Given the description of an element on the screen output the (x, y) to click on. 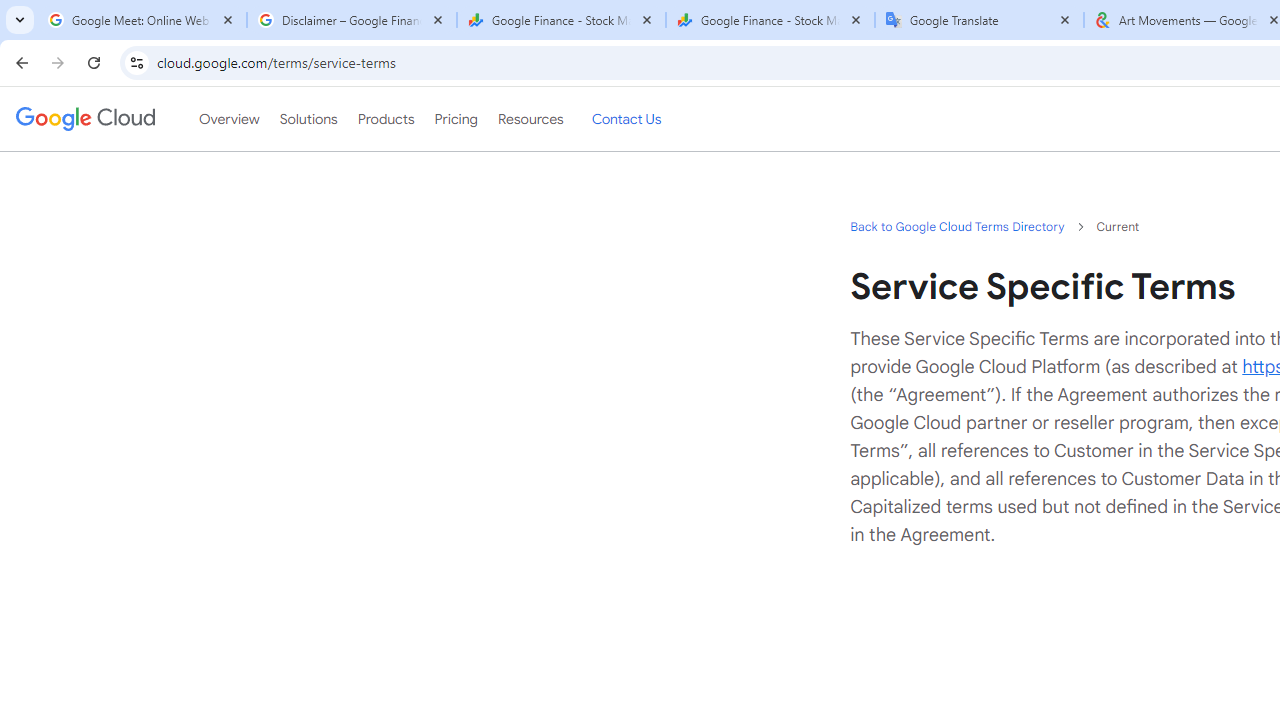
Back to Google Cloud Terms Directory (956, 226)
Forward (57, 62)
Resources (530, 119)
Search tabs (20, 20)
